Given the description of an element on the screen output the (x, y) to click on. 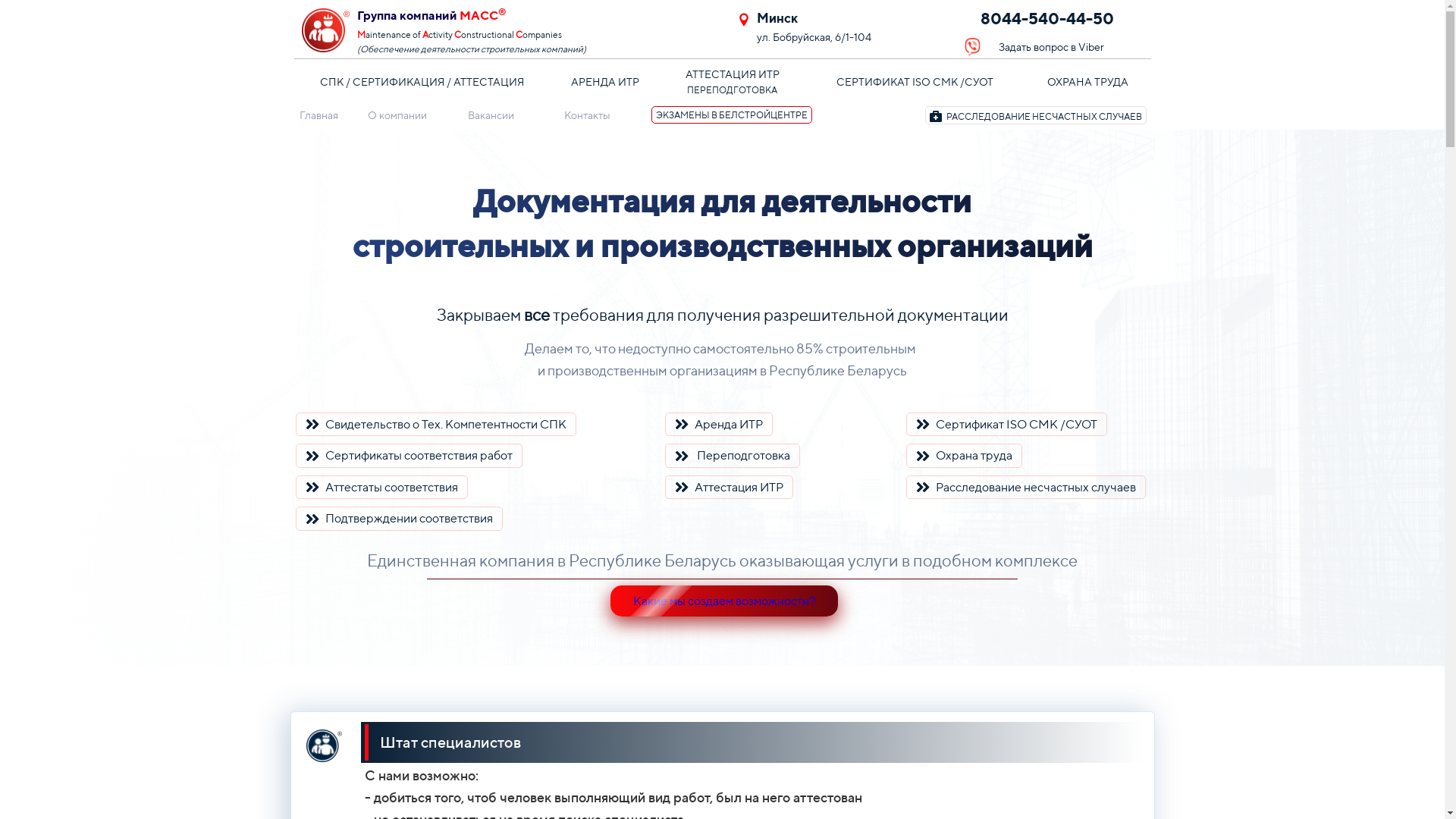
8044-540-44-50 Element type: text (1055, 20)
